Given the description of an element on the screen output the (x, y) to click on. 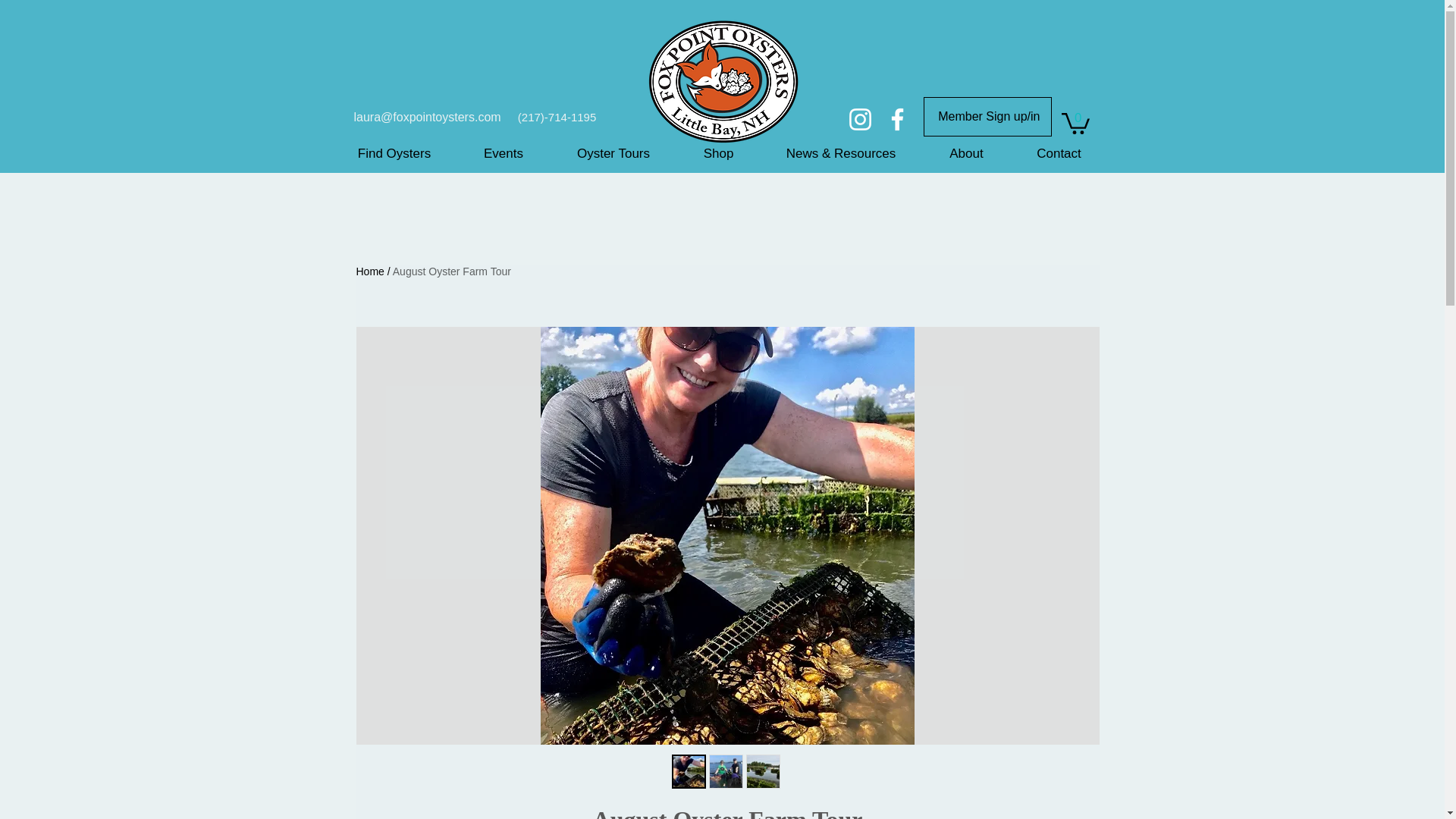
Home (370, 271)
0 (1075, 122)
Find Oysters (393, 153)
Contact (1058, 153)
0 (1075, 122)
Oyster Tours (612, 153)
Shop (719, 153)
August Oyster Farm Tour (452, 271)
About (965, 153)
Events (504, 153)
